Given the description of an element on the screen output the (x, y) to click on. 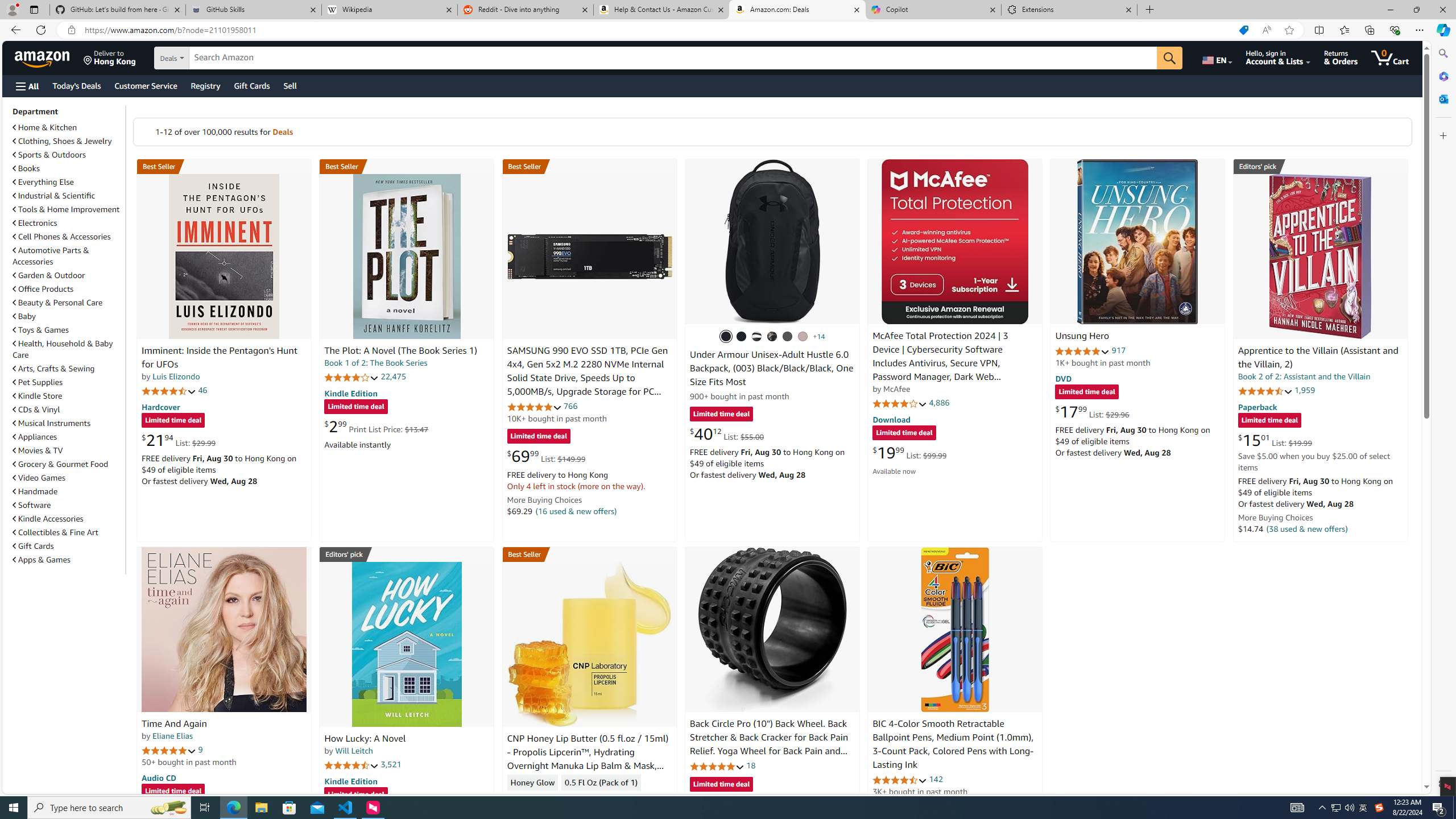
Choose a language for shopping. (1216, 57)
Musical Instruments (51, 422)
Sports & Outdoors (49, 154)
4.1 out of 5 stars (899, 403)
766 (570, 406)
Garden & Outdoor (49, 275)
DVD (1063, 378)
GitHub Skills (253, 9)
Search in (210, 58)
(005) Black Full Heather / Black / Metallic Gold (788, 336)
9 (200, 749)
Extensions (1068, 9)
Open Menu (26, 86)
